Given the description of an element on the screen output the (x, y) to click on. 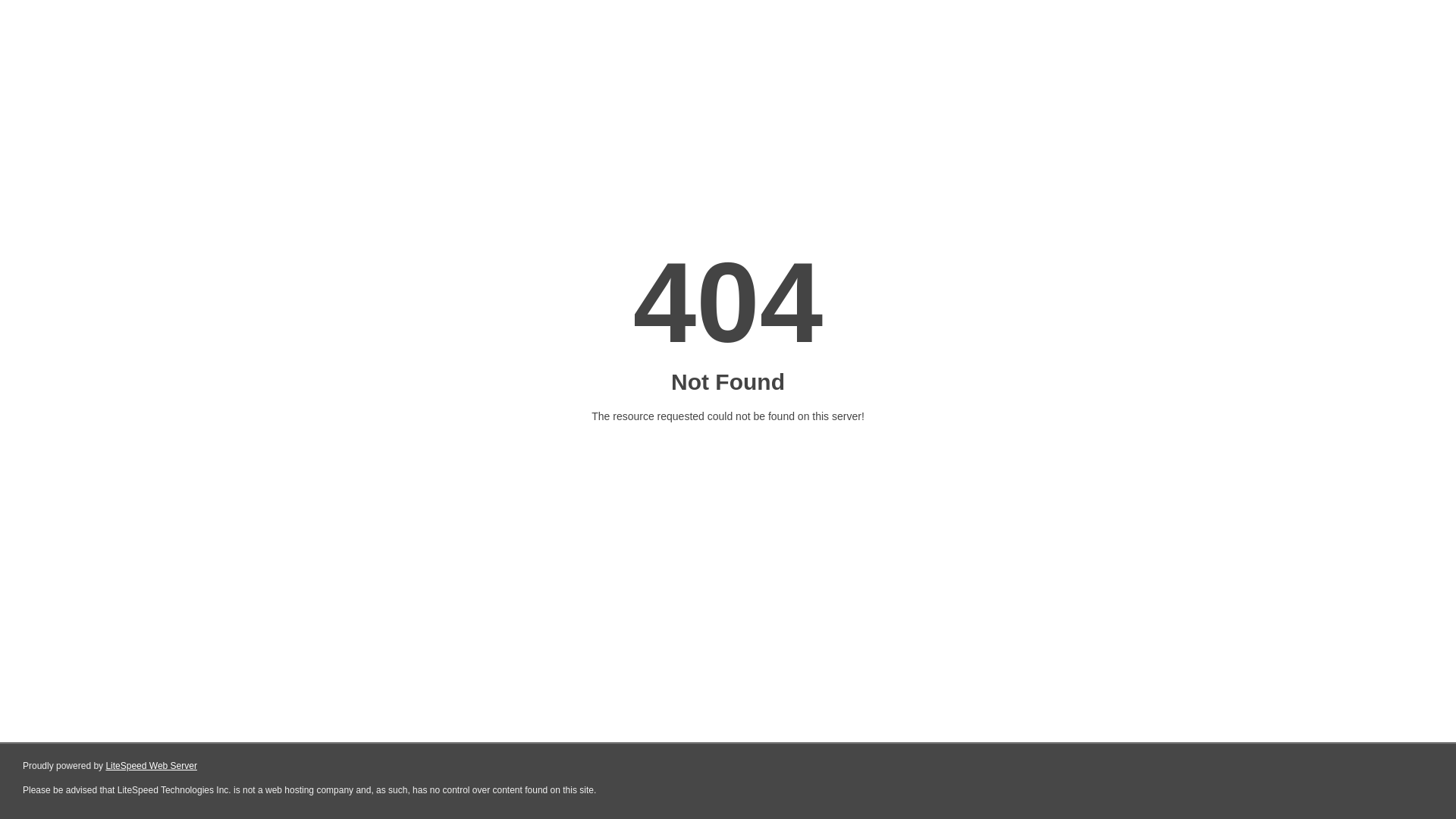
LiteSpeed Web Server Element type: text (151, 765)
